Given the description of an element on the screen output the (x, y) to click on. 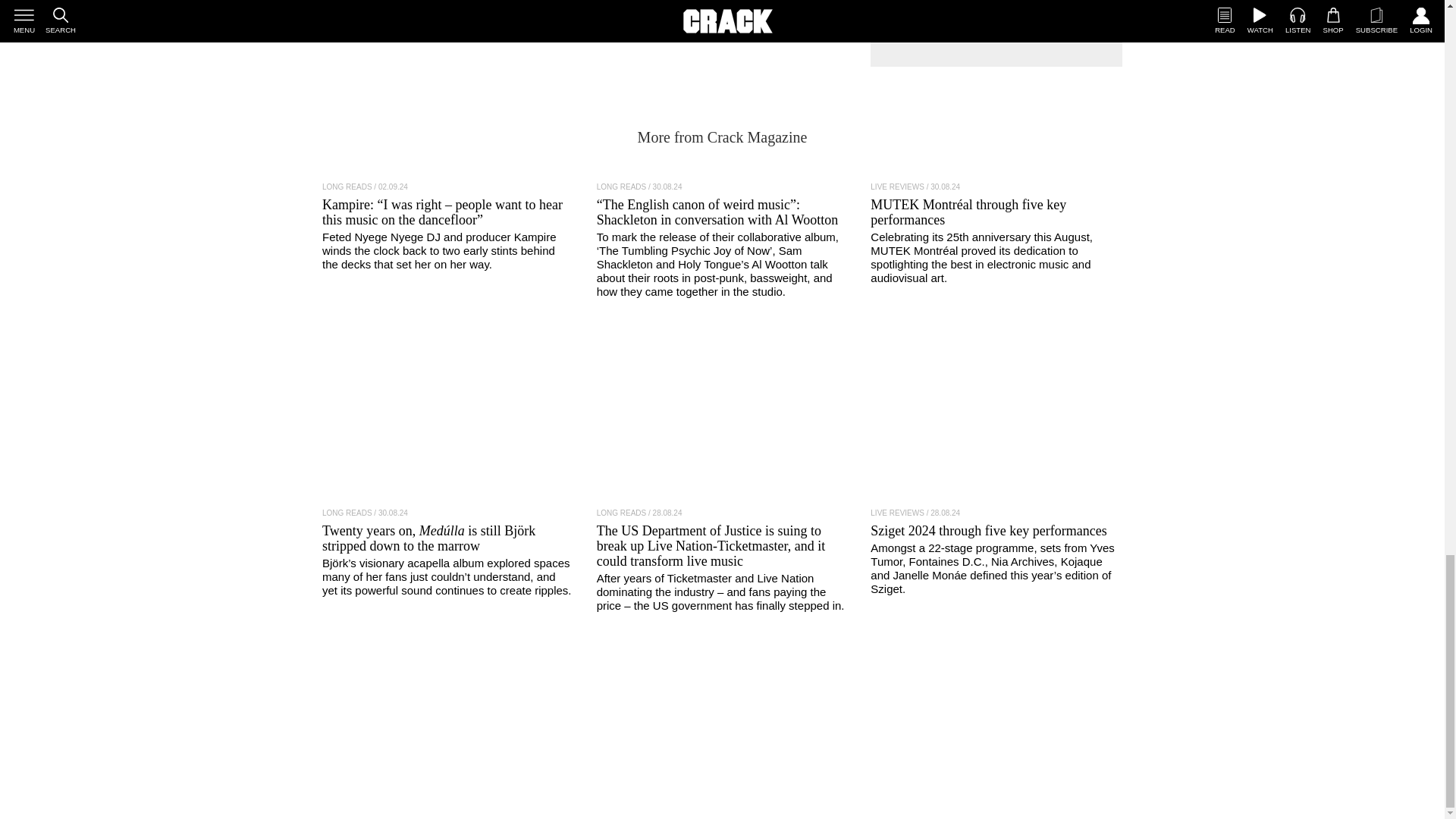
View all posts in Long Reads (346, 186)
View all posts in Long Reads (621, 512)
View all posts in Live Reviews (897, 186)
View all posts in Long Reads (621, 186)
View all posts in Live Reviews (897, 512)
View all posts in Long Reads (346, 512)
